Given the description of an element on the screen output the (x, y) to click on. 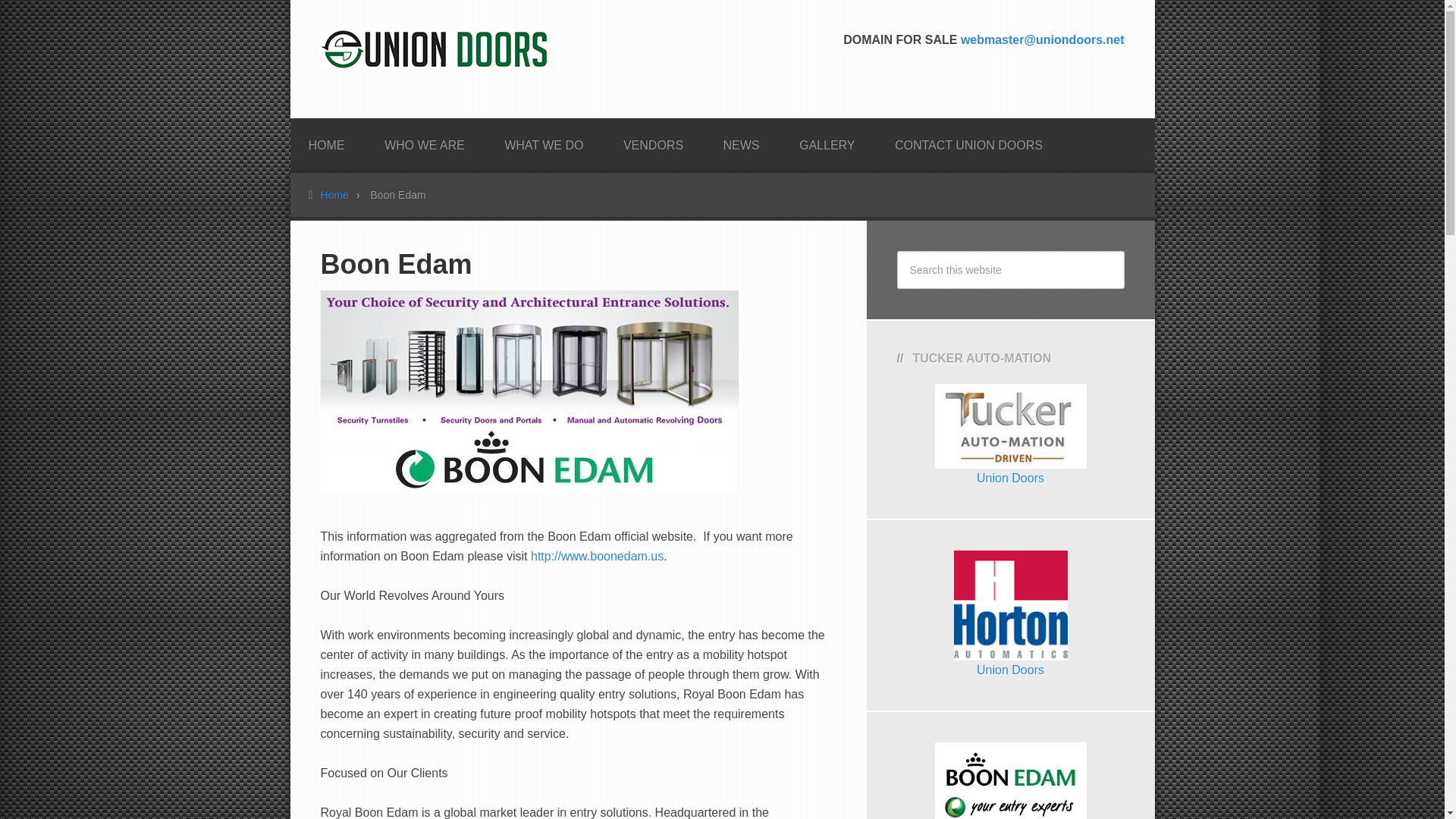
GALLERY (826, 140)
Horton Automatics  (1010, 649)
Tucker Auto-Mation  (1010, 458)
NEWS (740, 140)
Horton Automatics  (1010, 670)
Tucker Auto-Mation  (1010, 478)
AUTOMATIC DOOR INSTALLATION AND SERVICE MA (433, 53)
WHO WE ARE (424, 140)
HOME (325, 140)
